Given the description of an element on the screen output the (x, y) to click on. 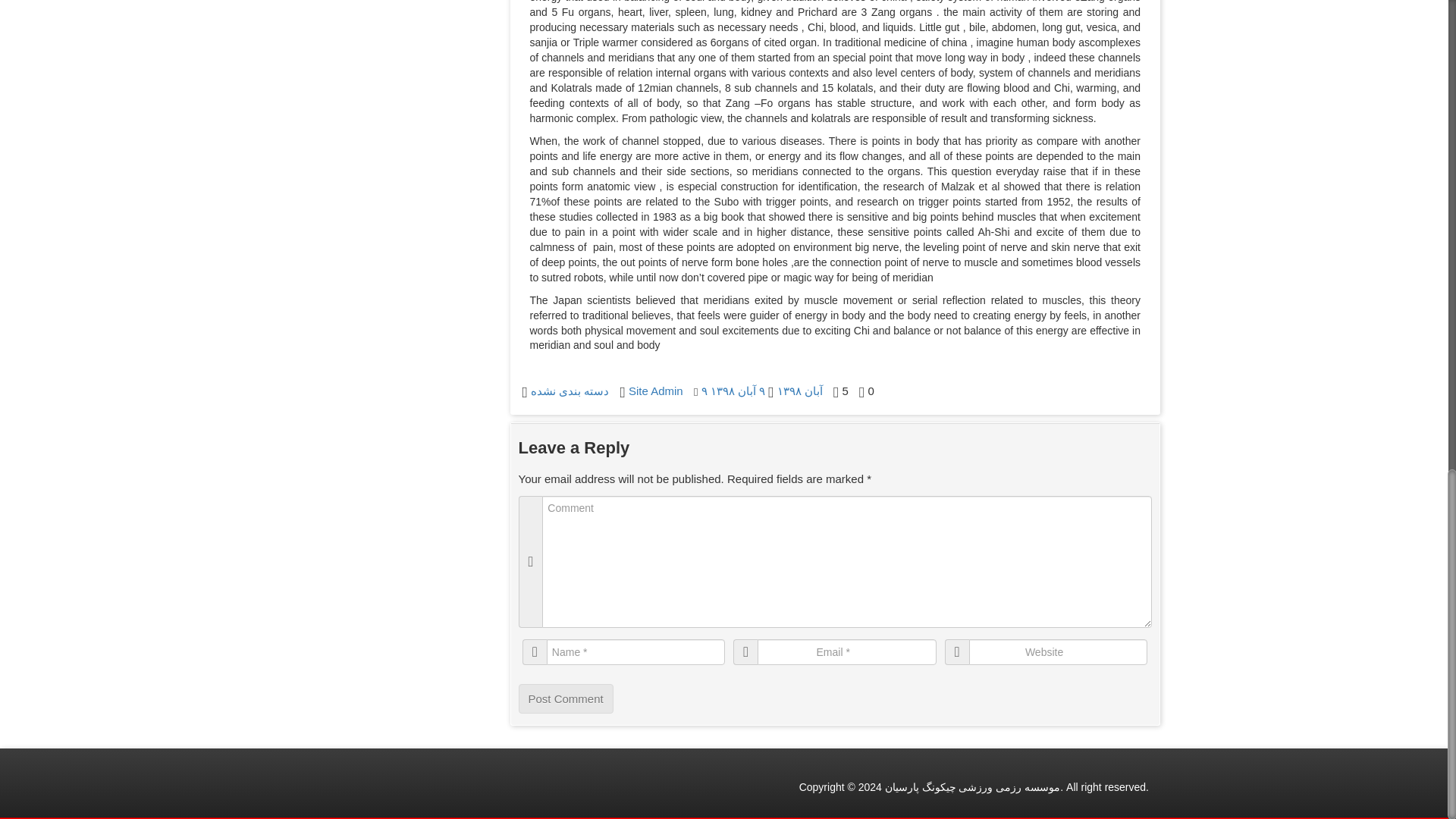
Site Admin (655, 390)
Post Comment (565, 698)
Post Comment (565, 698)
